Given the description of an element on the screen output the (x, y) to click on. 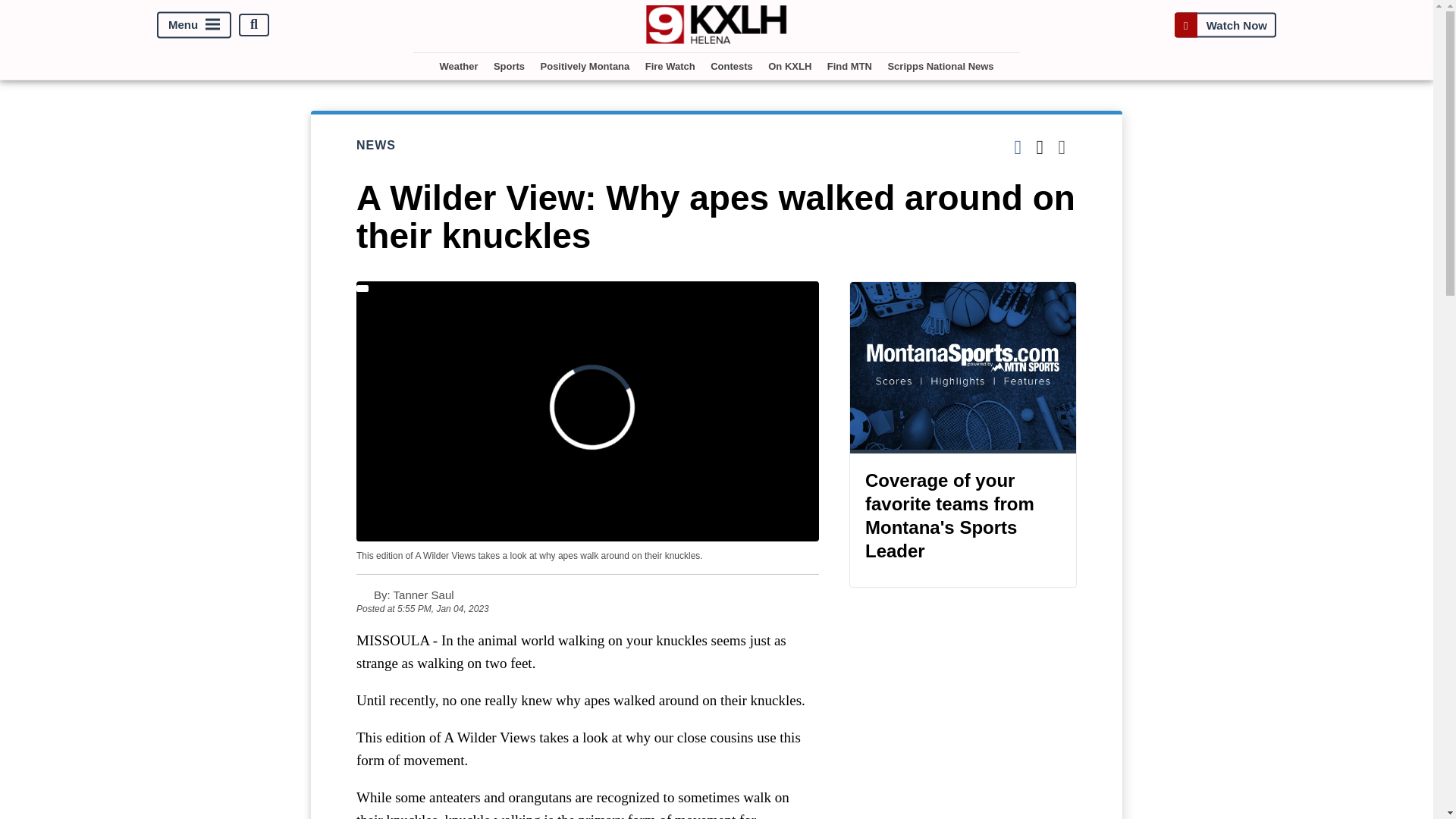
Menu (194, 24)
Watch Now (1224, 24)
